Given the description of an element on the screen output the (x, y) to click on. 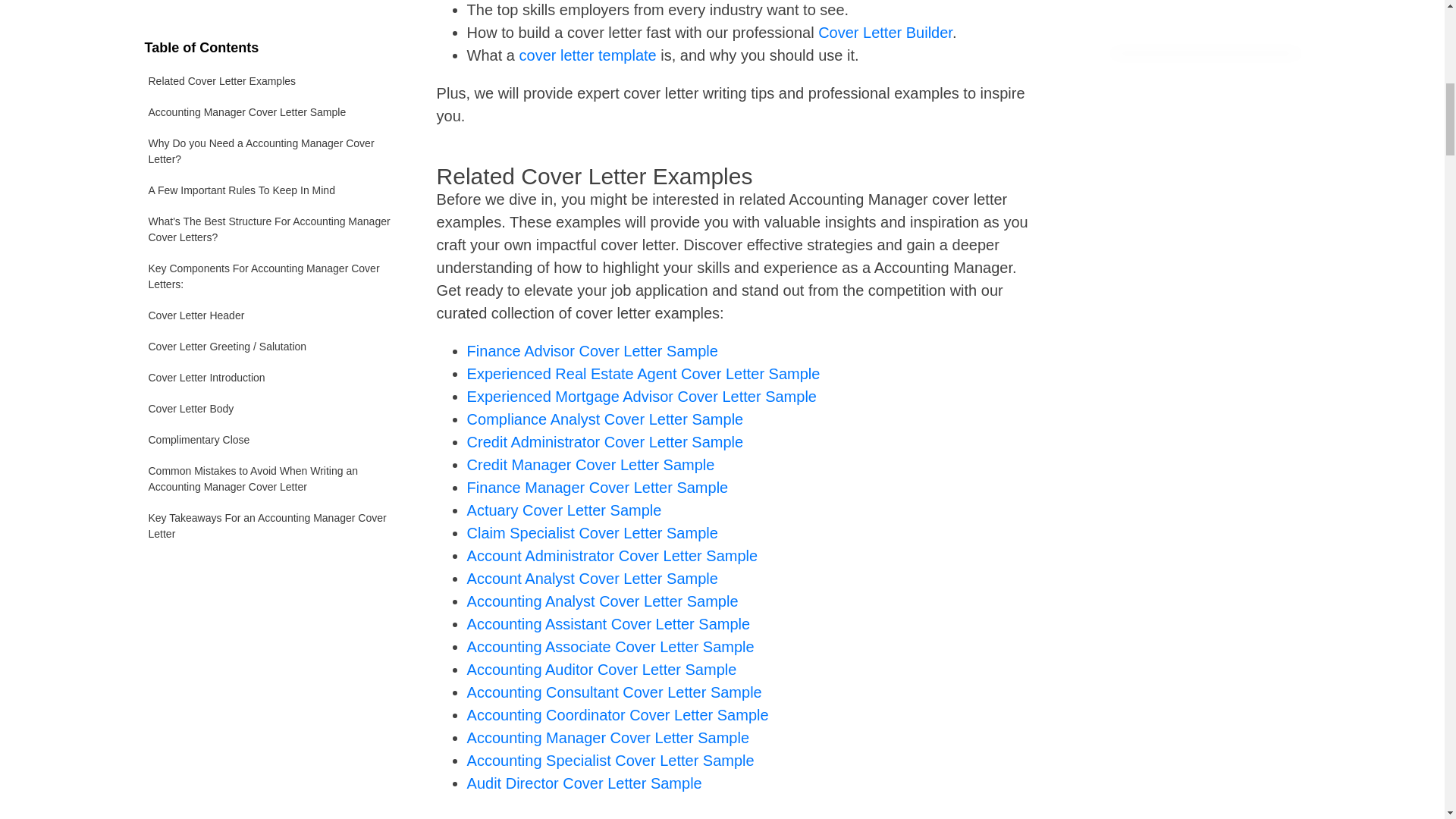
Cover Letter Header (270, 86)
Compliance Analyst Cover Letter Sample (605, 419)
cover letter template (587, 54)
Cover Letter Builder (885, 32)
Cover Letter Introduction (270, 148)
Experienced Mortgage Advisor Cover Letter Sample (641, 396)
Credit Manager Cover Letter Sample (590, 464)
Cover Letter Body (270, 179)
Key Takeaways For an Accounting Manager Cover Letter (270, 297)
Finance Manager Cover Letter Sample (598, 487)
Experienced Real Estate Agent Cover Letter Sample (644, 373)
Complimentary Close (270, 210)
Finance Advisor Cover Letter Sample (592, 351)
